Given the description of an element on the screen output the (x, y) to click on. 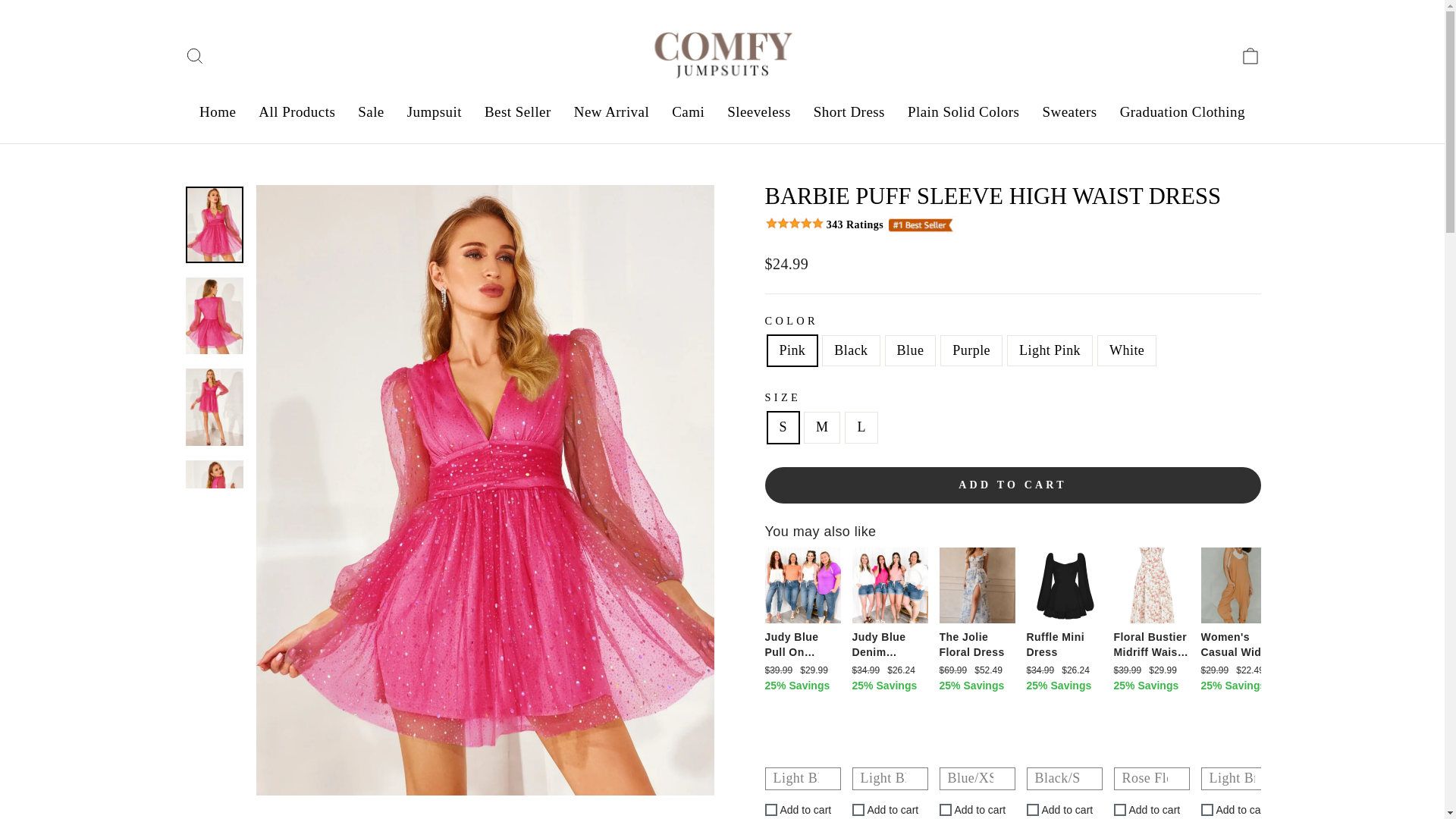
Best Seller (517, 112)
White (194, 55)
icon-search (611, 112)
Sleeveless (194, 55)
Cami (759, 112)
Jumpsuit (688, 112)
Women's Casual Wide Leg Jumpsuit (434, 112)
Sale (1238, 644)
Ruffle Mini Dress (371, 112)
Graduation Clothing (1064, 644)
Home (1182, 112)
Floral Bustier Midriff Waist Shaper Dress (217, 112)
